Given the description of an element on the screen output the (x, y) to click on. 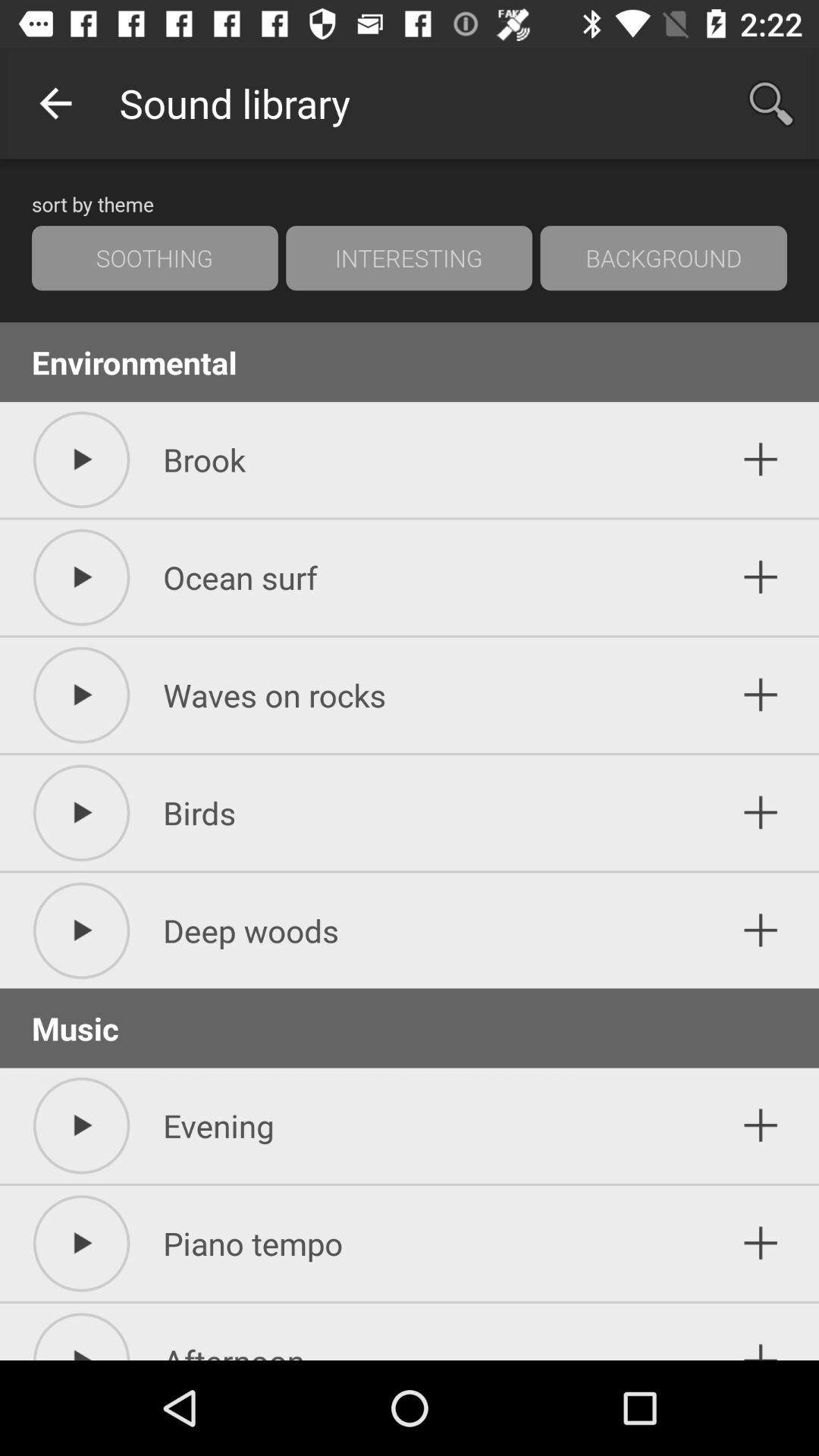
add to the sound library (761, 812)
